Given the description of an element on the screen output the (x, y) to click on. 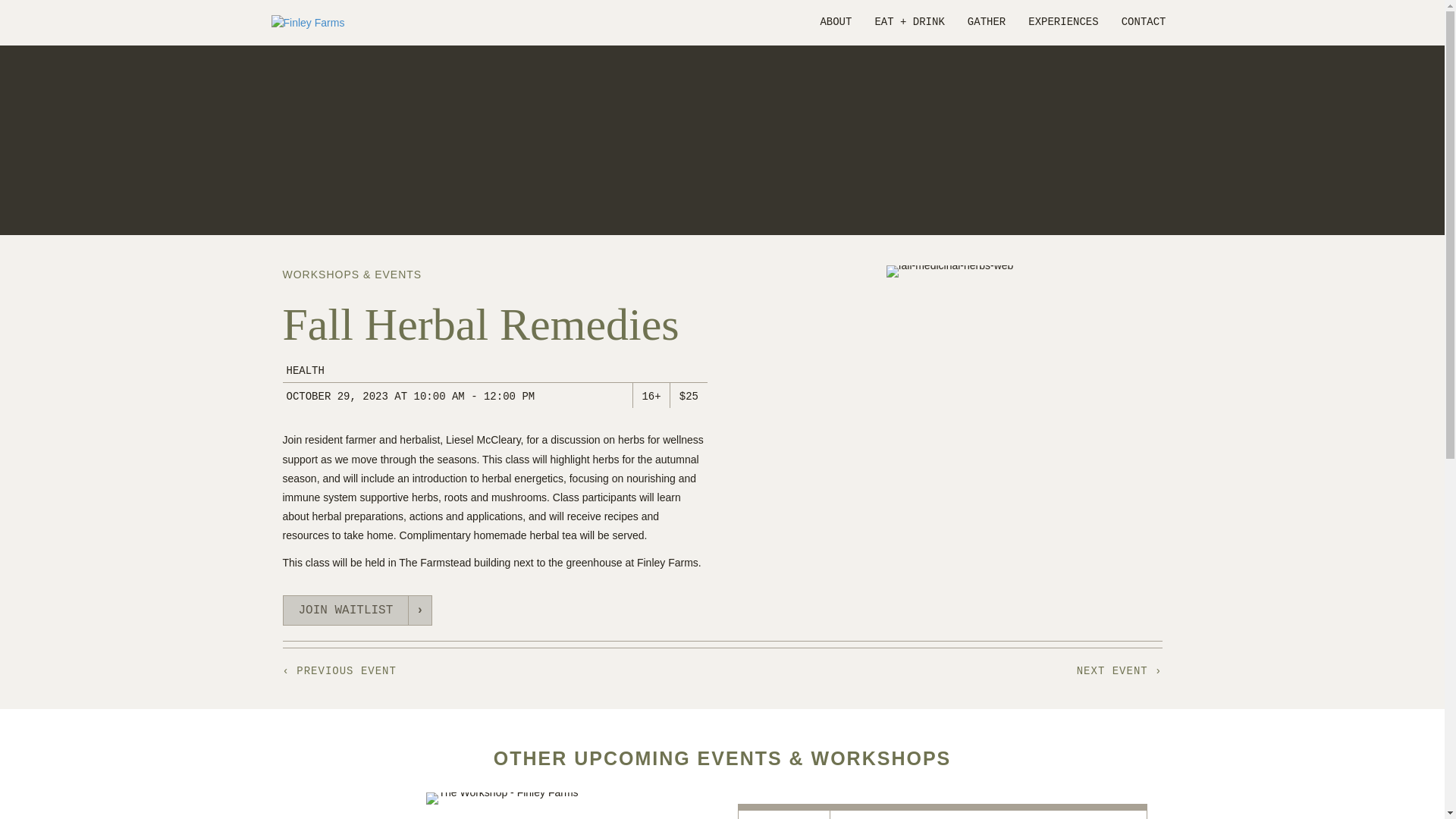
fall-medicinal-herbs-web (949, 271)
The Workshop - Finley Farms (502, 798)
ABOUT (835, 22)
